Given the description of an element on the screen output the (x, y) to click on. 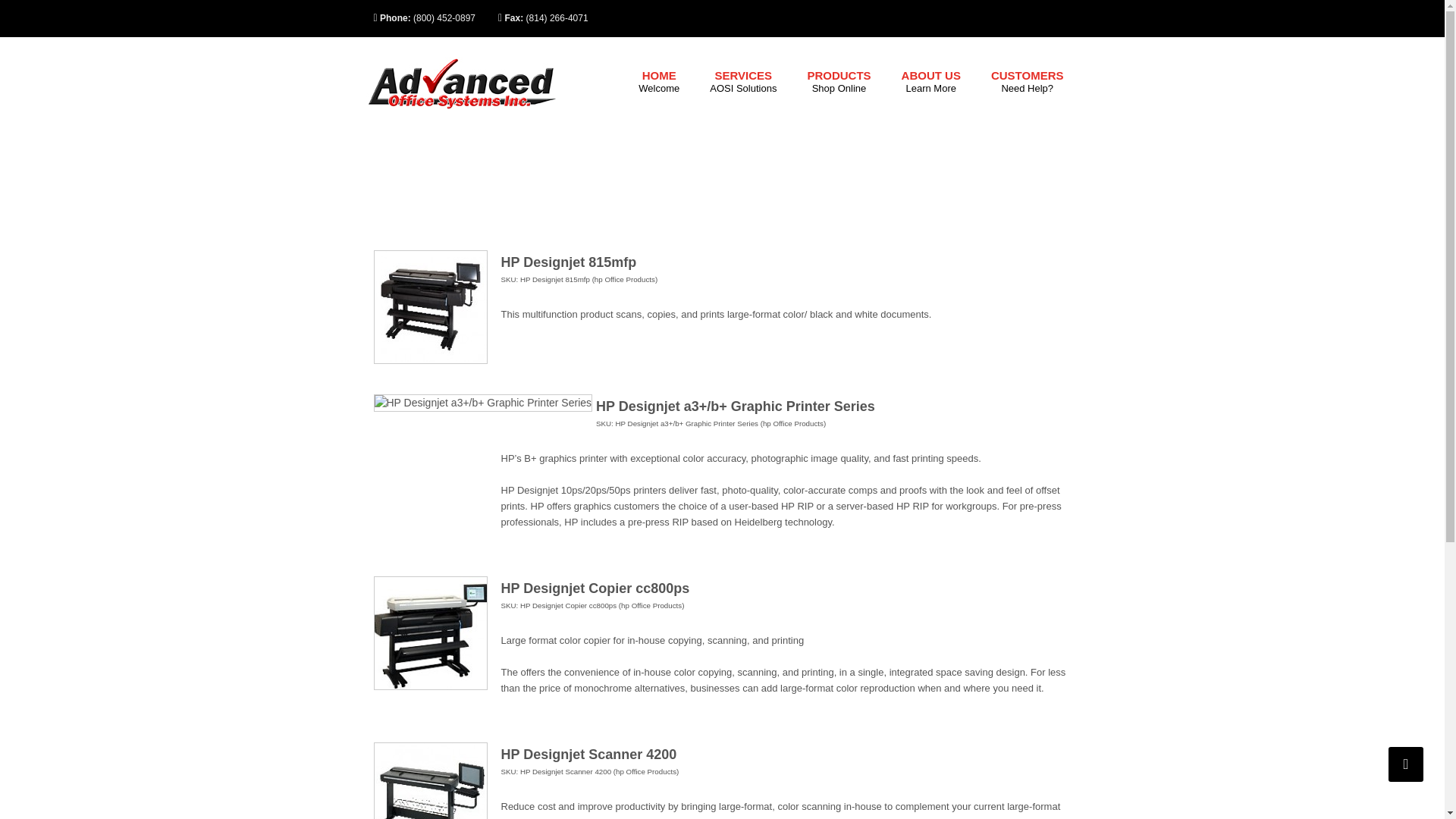
HP Designjet 815mfp (429, 306)
HP Designjet Scanner 4200 (930, 82)
HP Designjet Scanner 4200 (588, 754)
HP Designjet Copier cc800ps (838, 82)
HP Designjet Copier cc800ps (743, 82)
HP Designjet 815mfp (429, 780)
